Given the description of an element on the screen output the (x, y) to click on. 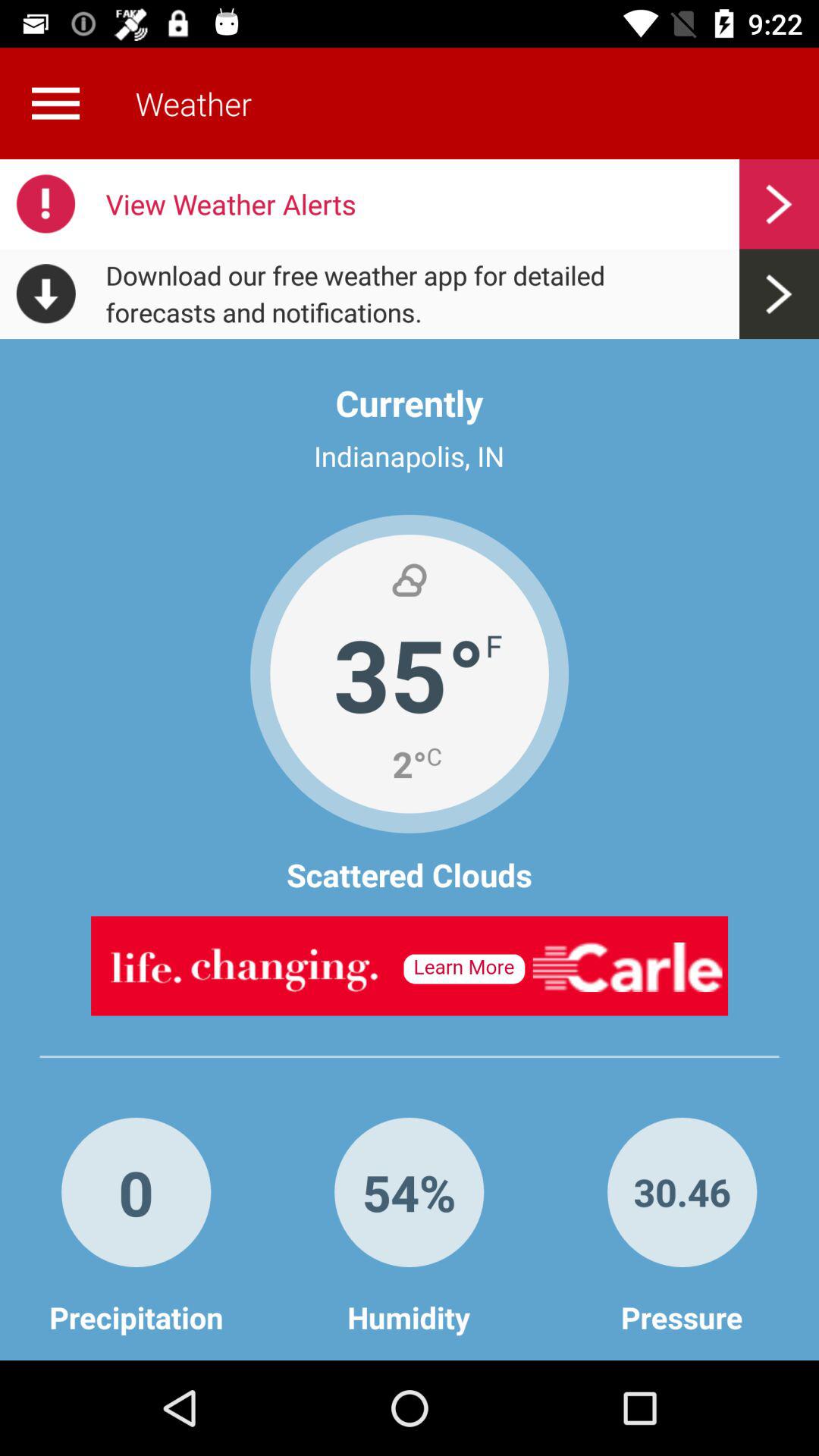
open menu (55, 103)
